Given the description of an element on the screen output the (x, y) to click on. 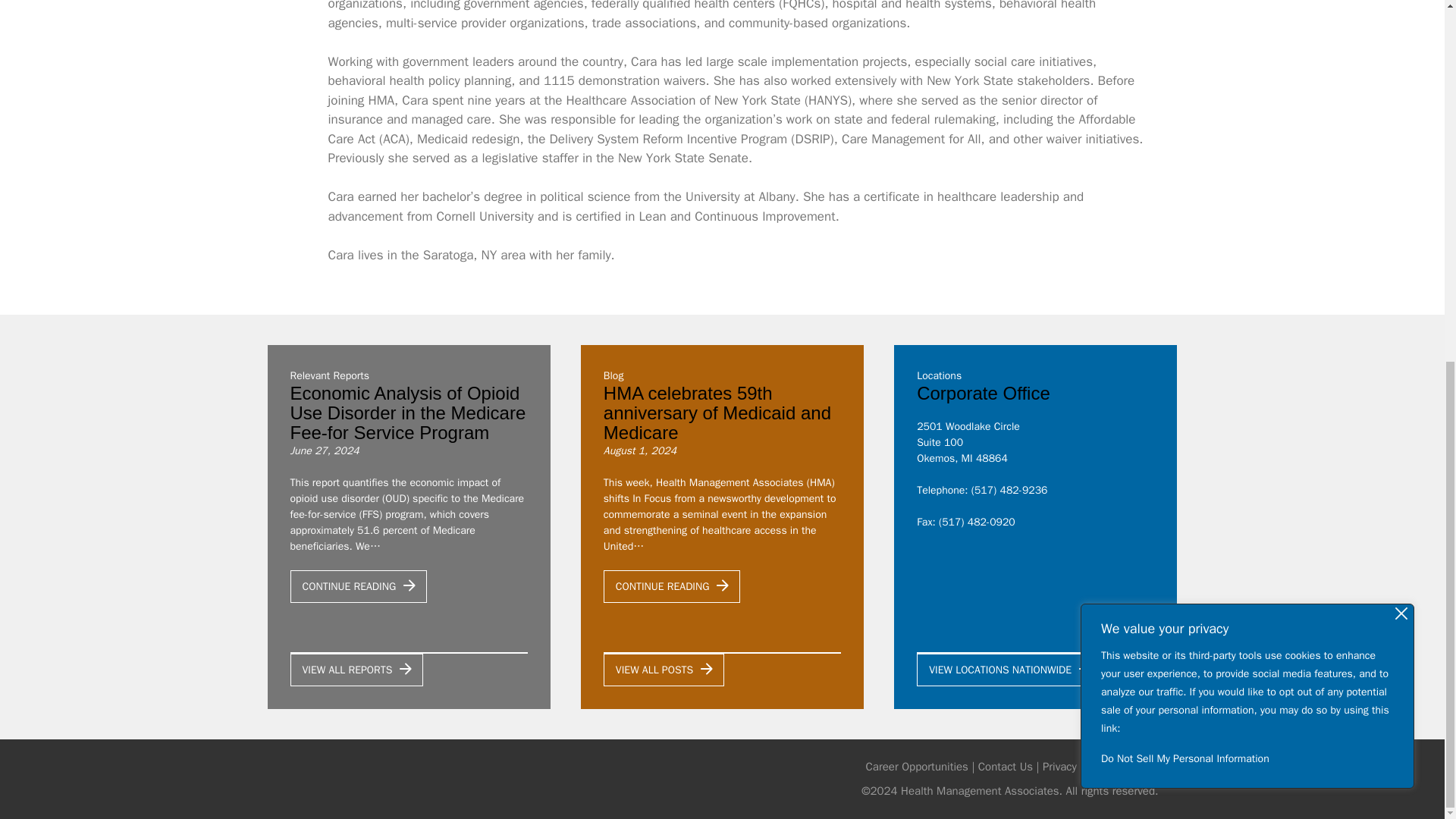
Do Not Sell My Personal Information (1246, 116)
